Given the description of an element on the screen output the (x, y) to click on. 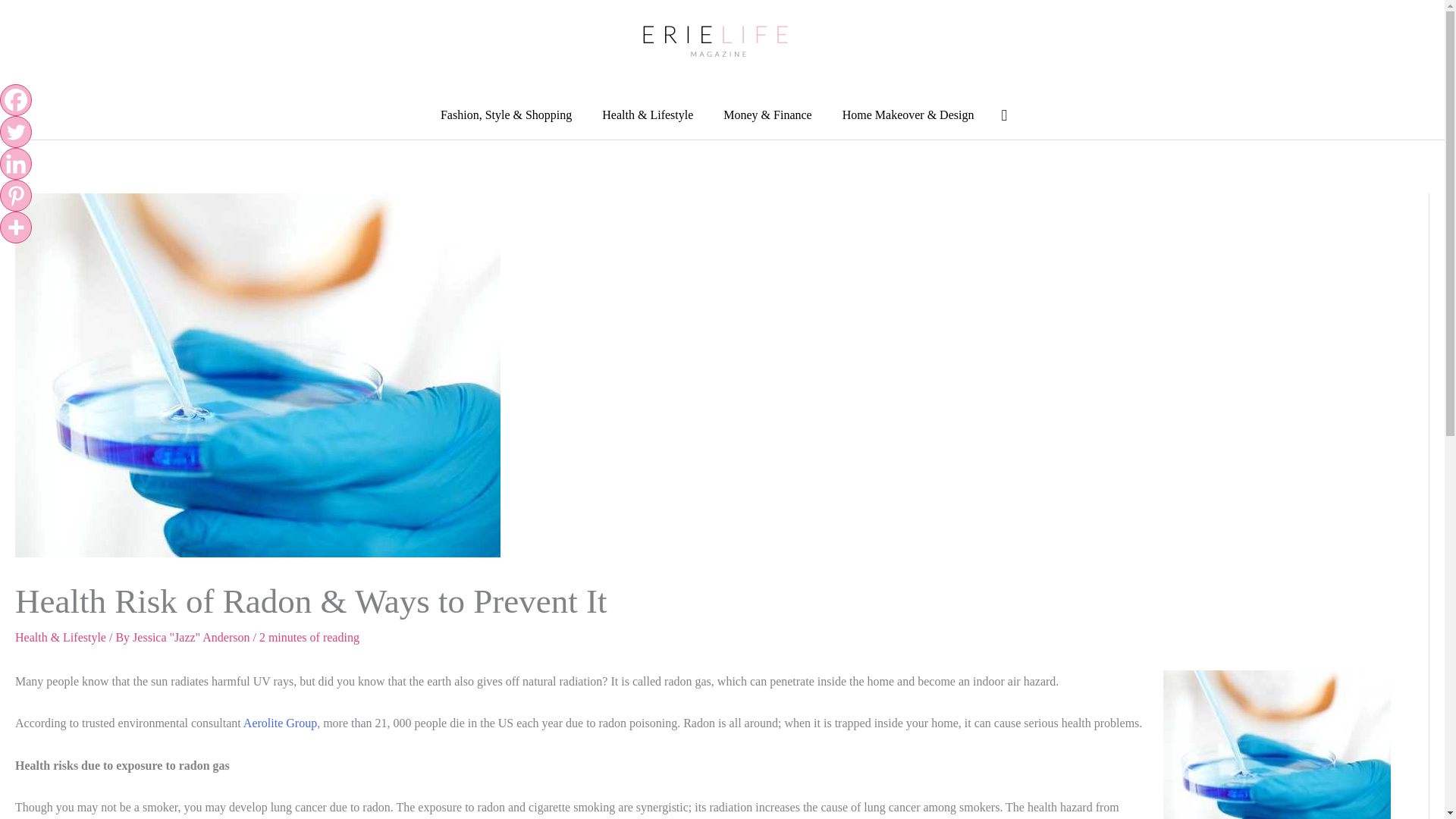
Linkedin (16, 163)
Twitter (16, 132)
Aerolitegroup.com (280, 722)
Pinterest (16, 195)
health risk of radon (1276, 744)
Aerolite Group (280, 722)
View all posts by Jessica "Jazz" Anderson (191, 636)
Facebook (16, 100)
More (16, 227)
Jessica "Jazz" Anderson (191, 636)
